Given the description of an element on the screen output the (x, y) to click on. 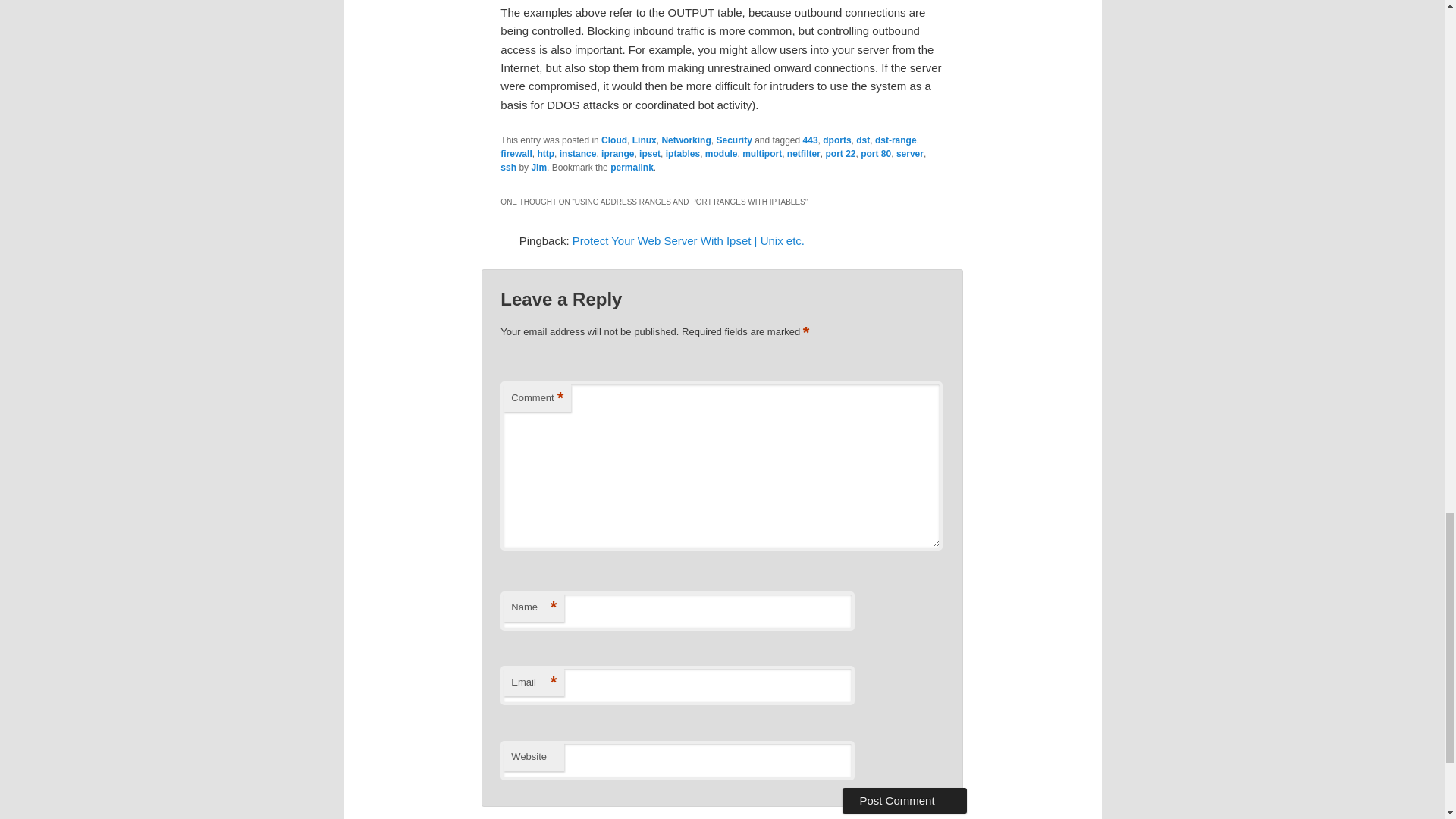
module (721, 153)
Post Comment (904, 800)
443 (810, 140)
multiport (761, 153)
firewall (515, 153)
Post Comment (904, 800)
port 22 (840, 153)
permalink (631, 167)
Jim (539, 167)
